Given the description of an element on the screen output the (x, y) to click on. 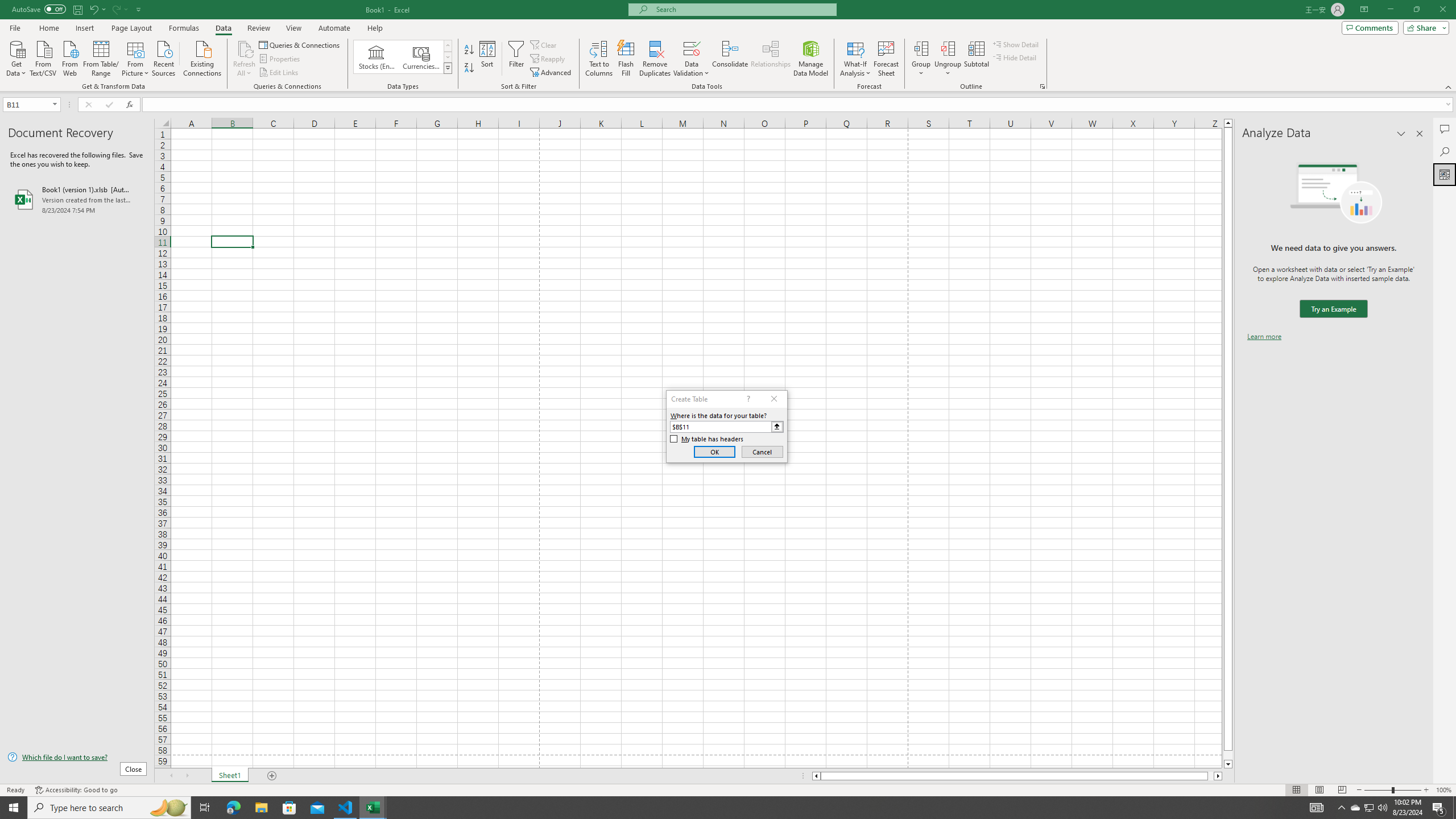
From Web (69, 57)
Flash Fill (625, 58)
Get Data (16, 57)
Group and Outline Settings (1042, 85)
